Given the description of an element on the screen output the (x, y) to click on. 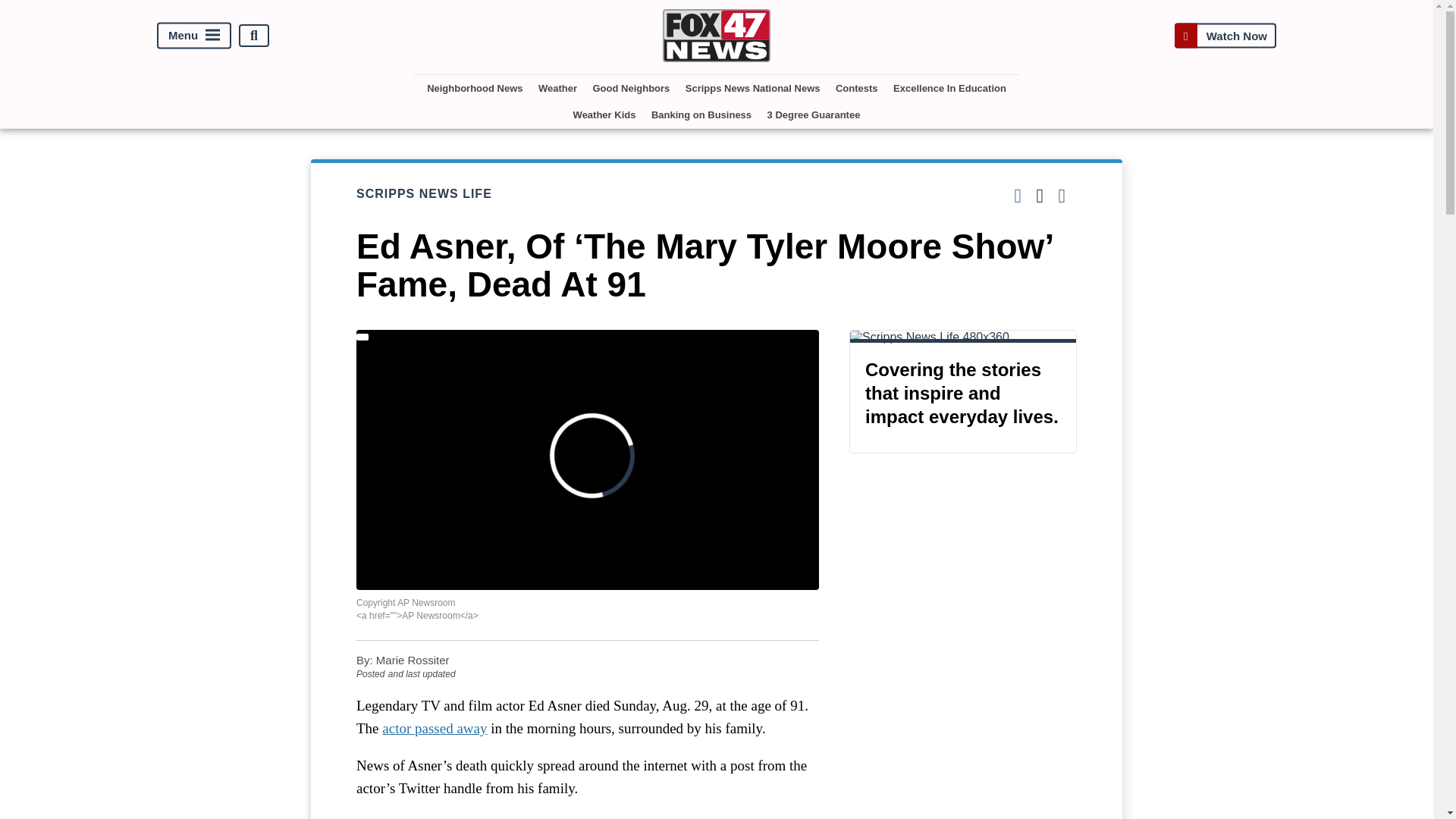
Watch Now (1224, 34)
Menu (194, 35)
